Given the description of an element on the screen output the (x, y) to click on. 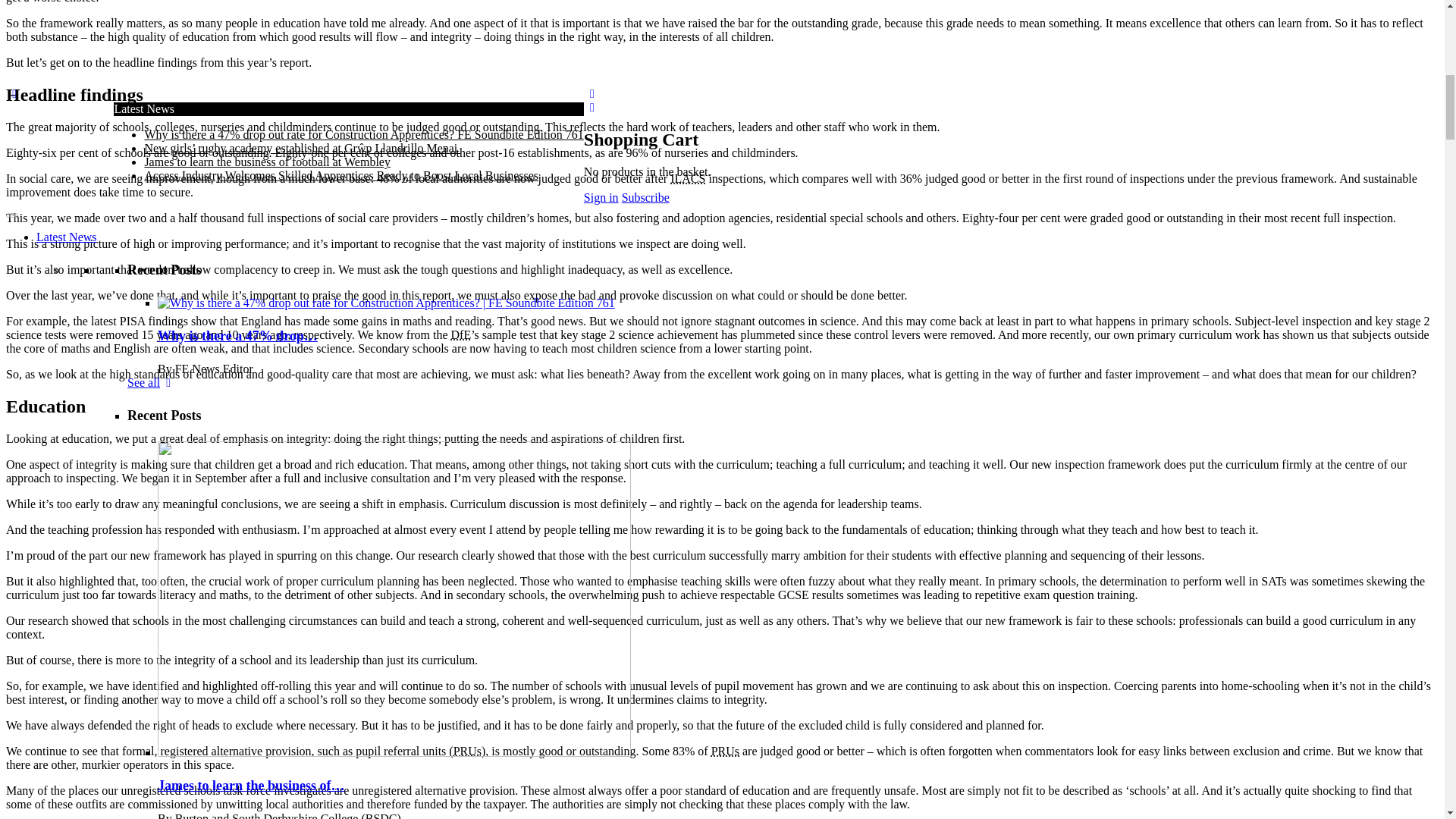
See all (152, 608)
Skills and Apprenticeships - News and Insights (242, 709)
See all (152, 158)
Sign in (240, 737)
Exclusives (62, 750)
EdTech - News on Education Technology (228, 668)
Work and leadership (177, 696)
Subscribe (166, 737)
